Given the description of an element on the screen output the (x, y) to click on. 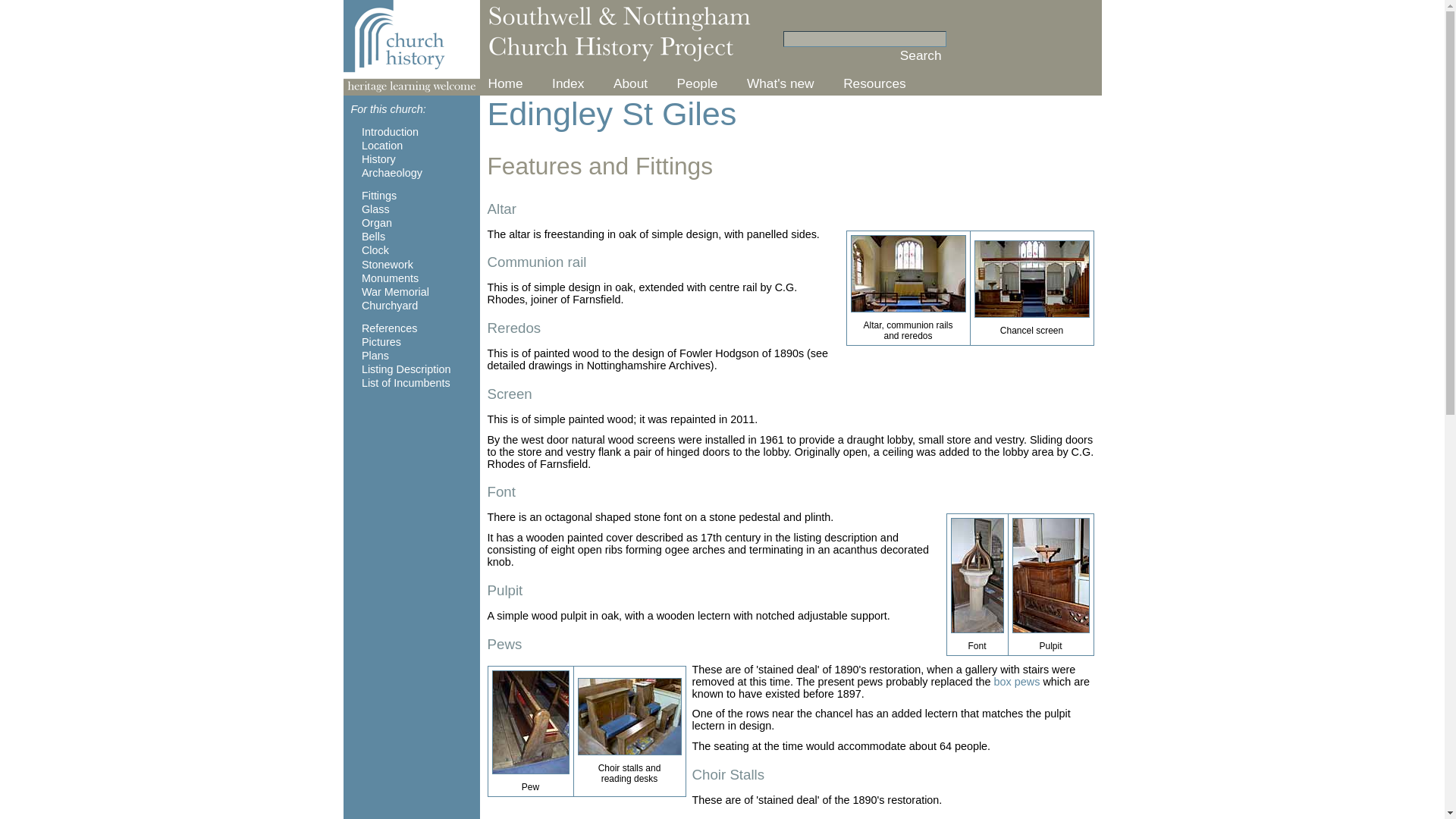
References (389, 328)
Stonework (387, 264)
Plans (374, 355)
Organ (376, 223)
History (378, 159)
Churchyard (389, 305)
Resources (874, 83)
Listing Description (406, 369)
Fittings (378, 195)
War Memorial (395, 291)
